Given the description of an element on the screen output the (x, y) to click on. 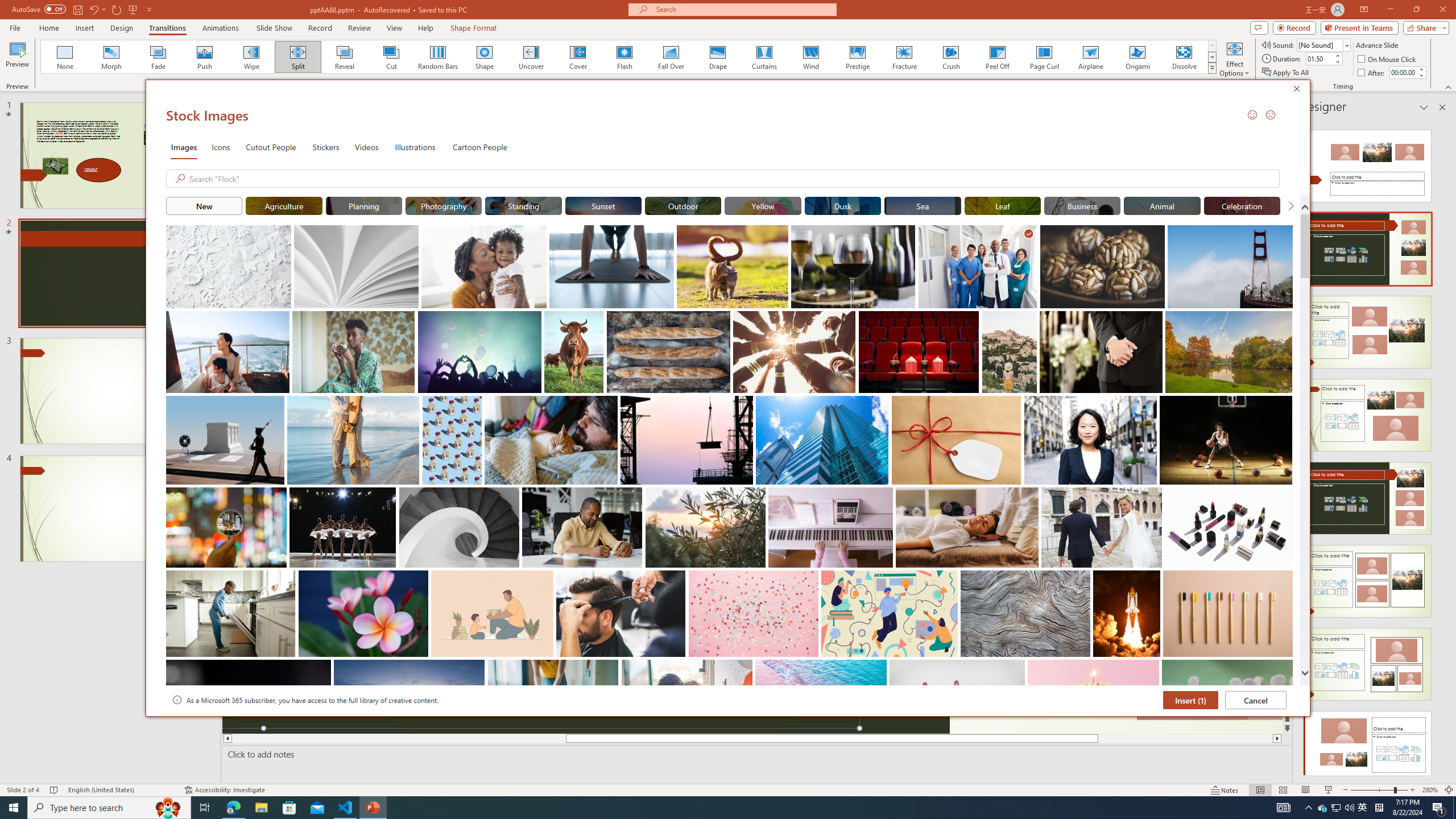
Class: NetUIScrollBar (1441, 447)
Ribbon Display Options (1364, 9)
"Business" Stock Images. (1082, 205)
